Given the description of an element on the screen output the (x, y) to click on. 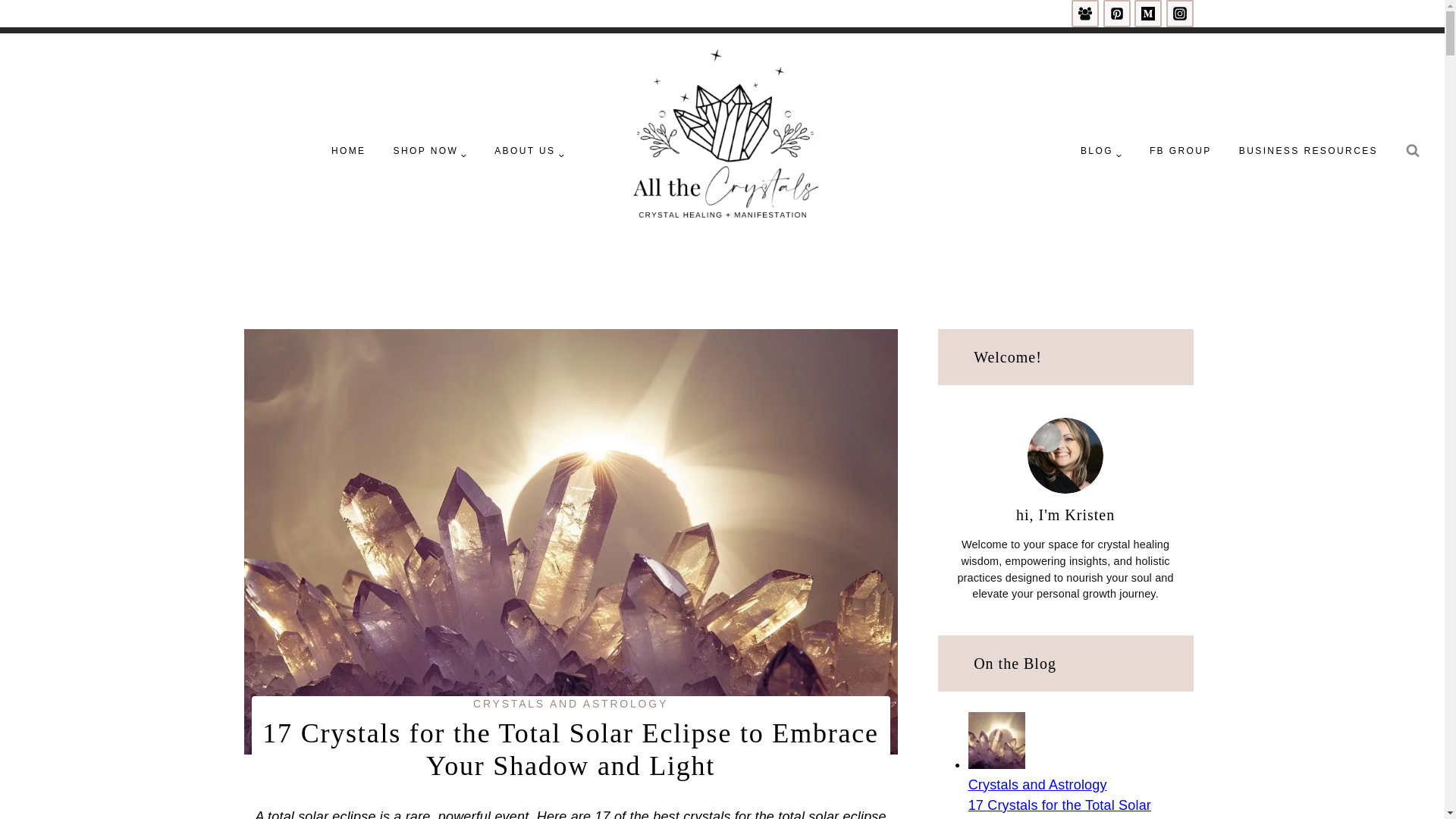
HOME (348, 150)
CRYSTALS AND ASTROLOGY (570, 703)
ABOUT US (529, 150)
FB GROUP (1180, 150)
BLOG (1101, 150)
BUSINESS RESOURCES (1308, 150)
SHOP NOW (430, 150)
